Given the description of an element on the screen output the (x, y) to click on. 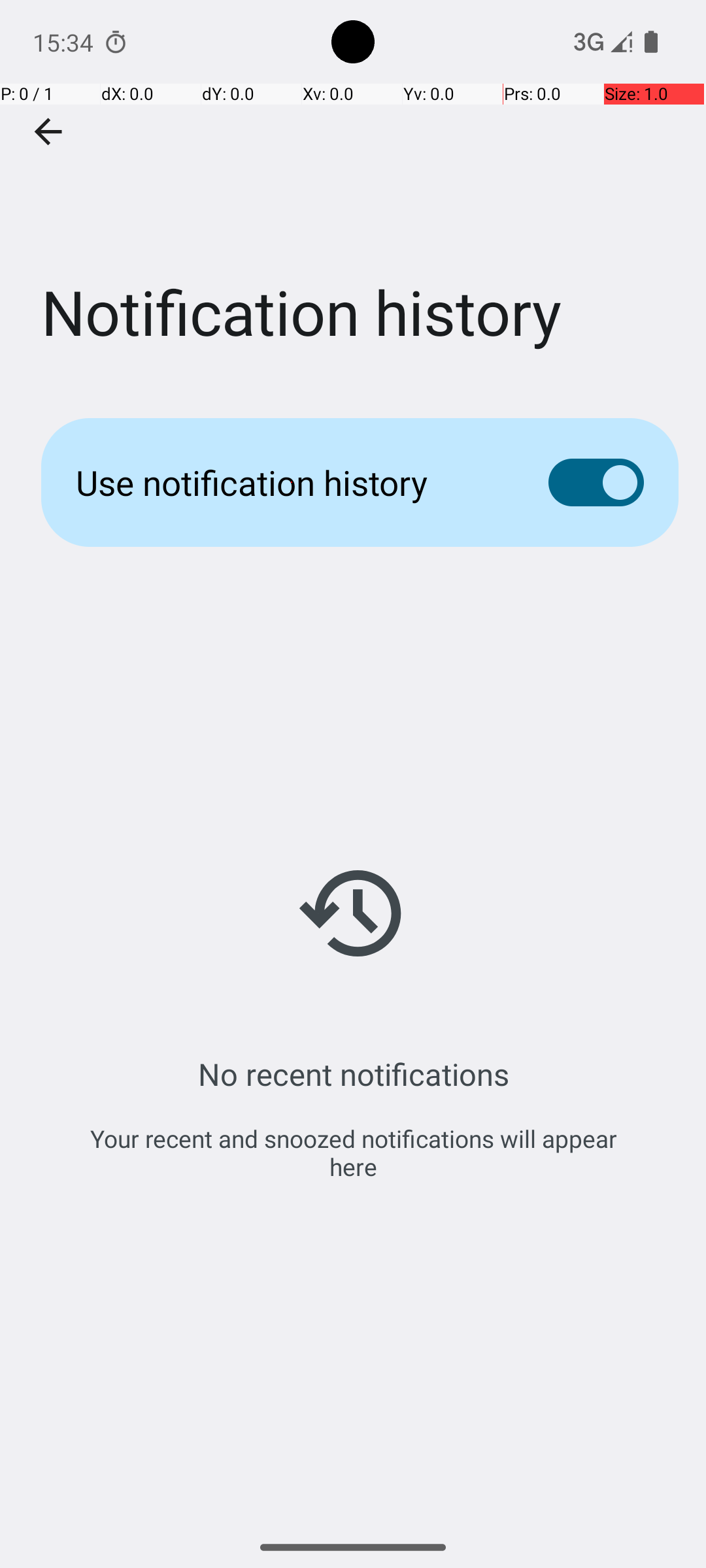
No recent notifications Element type: android.widget.TextView (352, 1073)
Your recent and snoozed notifications will appear here Element type: android.widget.TextView (352, 1152)
